Given the description of an element on the screen output the (x, y) to click on. 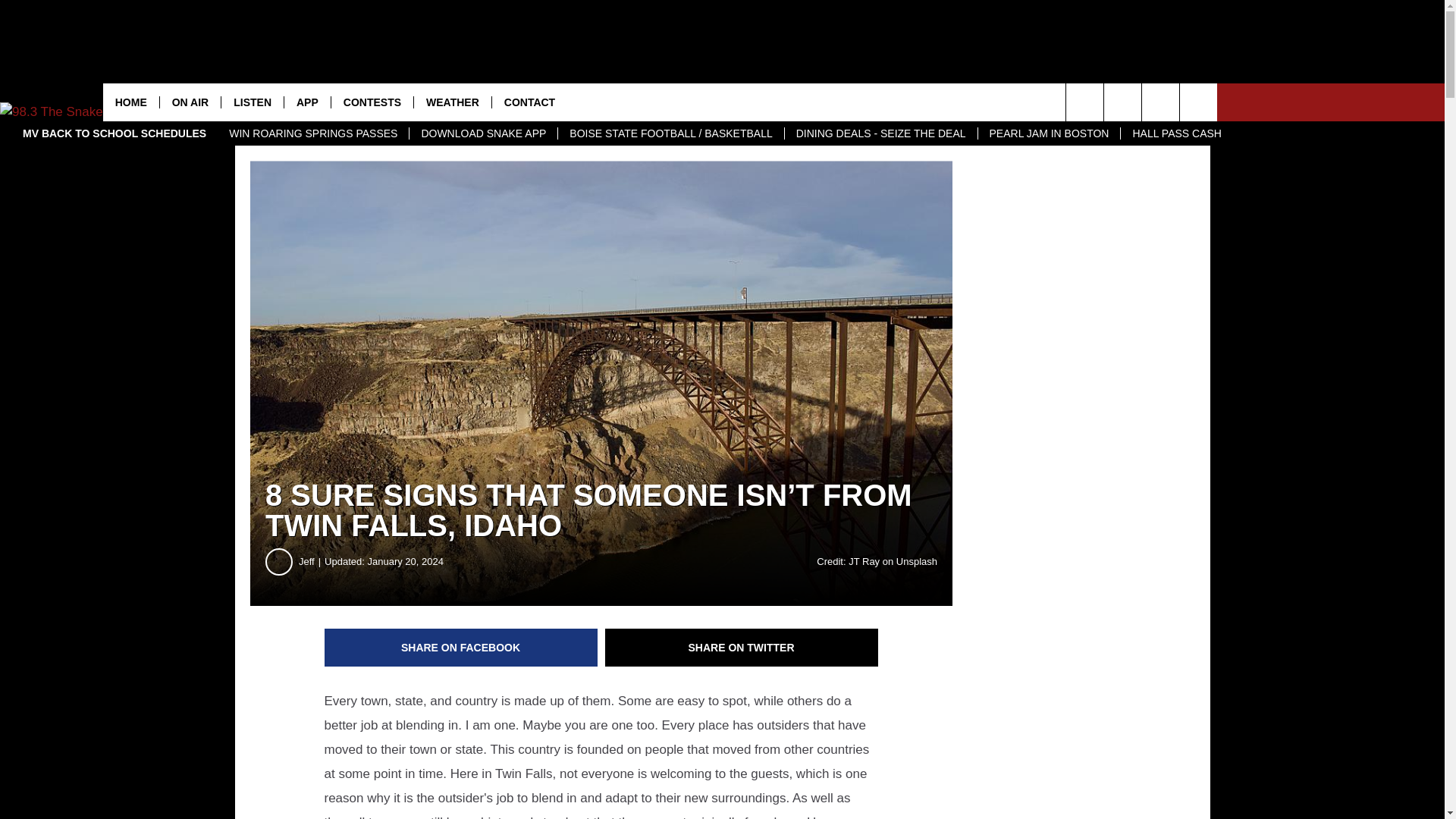
WIN ROARING SPRINGS PASSES (312, 133)
CONTESTS (371, 102)
Share on Twitter (741, 647)
CONTACT (529, 102)
LISTEN (252, 102)
HALL PASS CASH (1176, 133)
WEATHER (452, 102)
Share on Facebook (460, 647)
ON AIR (189, 102)
HOME (130, 102)
PEARL JAM IN BOSTON (1048, 133)
MV BACK TO SCHOOL SCHEDULES (113, 133)
DINING DEALS - SEIZE THE DEAL (880, 133)
DOWNLOAD SNAKE APP (483, 133)
APP (306, 102)
